Given the description of an element on the screen output the (x, y) to click on. 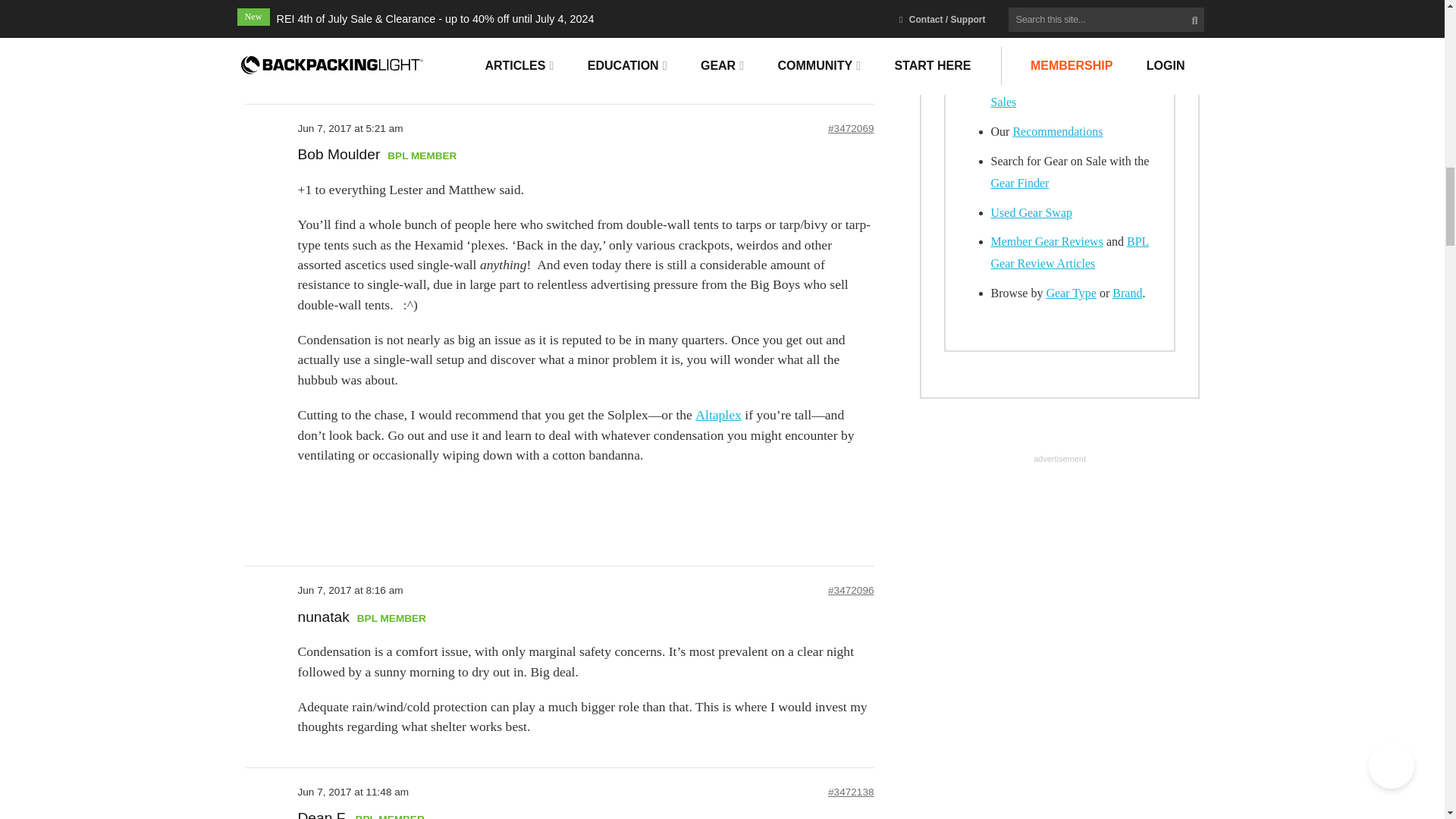
View Dean F.'s profile (322, 815)
View nunatak's profile (323, 617)
View Bob Moulder's profile (338, 154)
